Given the description of an element on the screen output the (x, y) to click on. 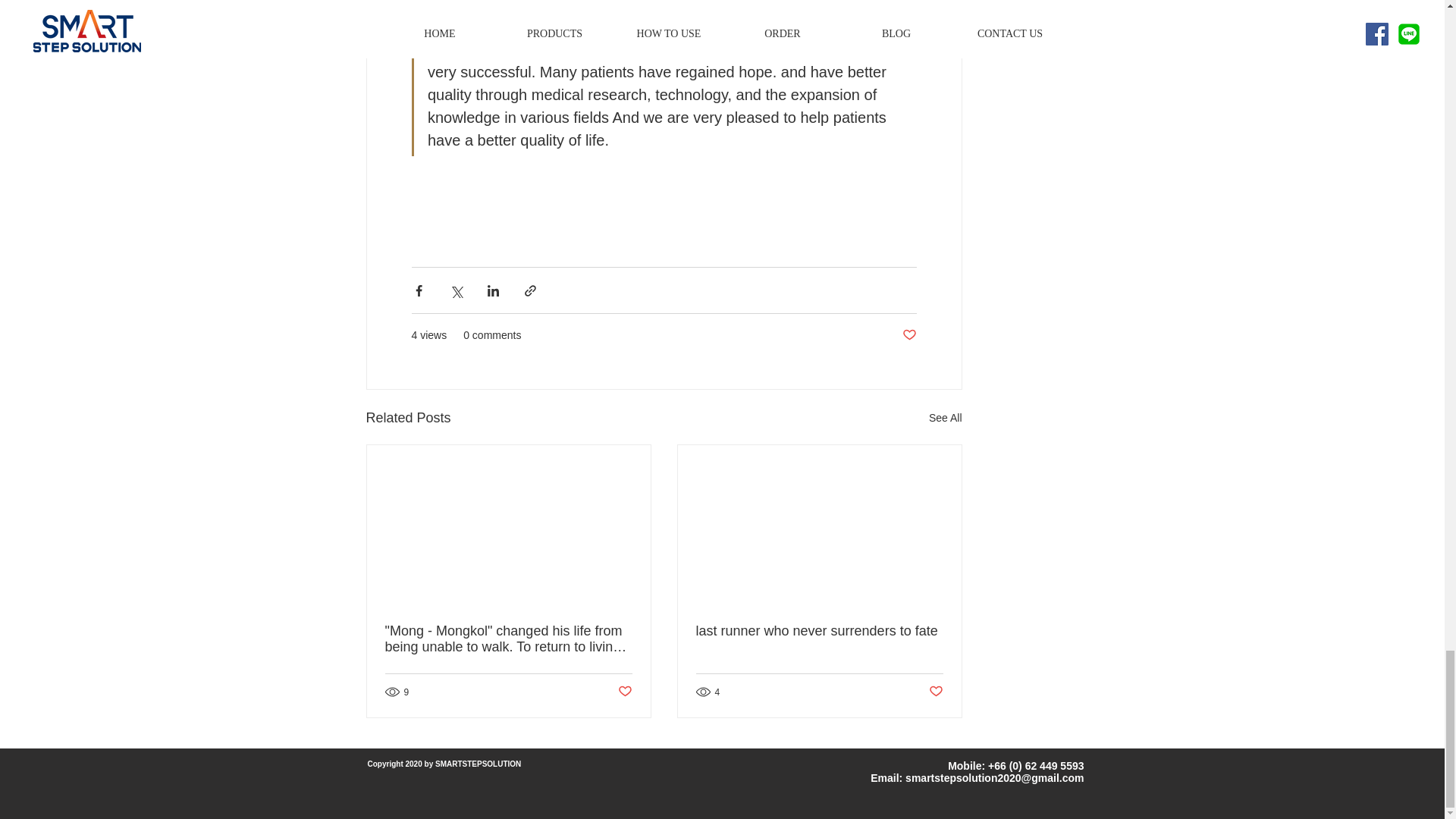
Post not marked as liked (935, 691)
Post not marked as liked (624, 691)
Post not marked as liked (909, 335)
last runner who never surrenders to fate (819, 631)
See All (945, 418)
